Given the description of an element on the screen output the (x, y) to click on. 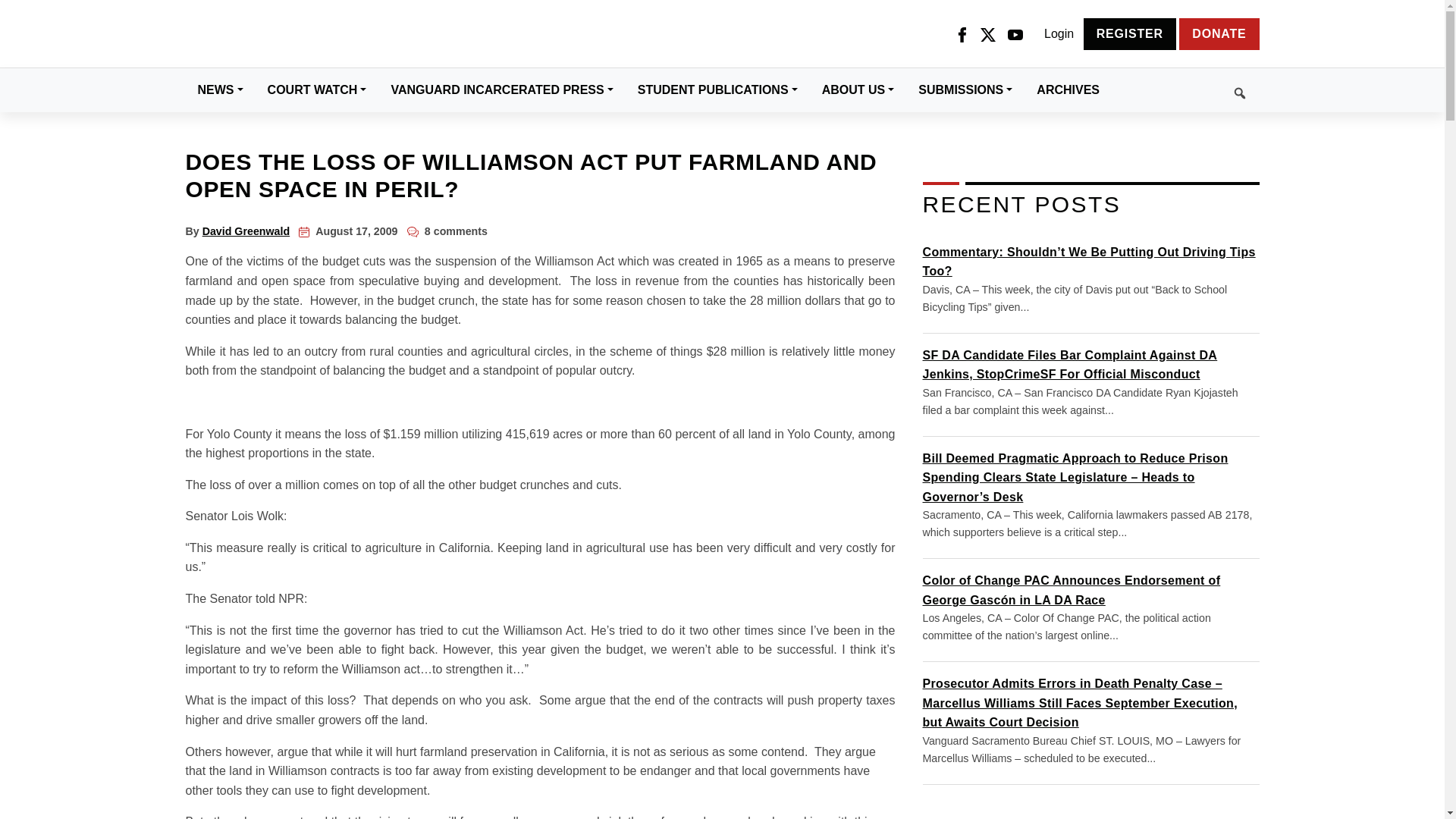
REGISTER (1129, 33)
Twitter (987, 34)
YouTube (1015, 34)
Login (1058, 34)
Facebook (962, 34)
NEWS (219, 89)
Search (1185, 90)
DONATE (1219, 33)
